Given the description of an element on the screen output the (x, y) to click on. 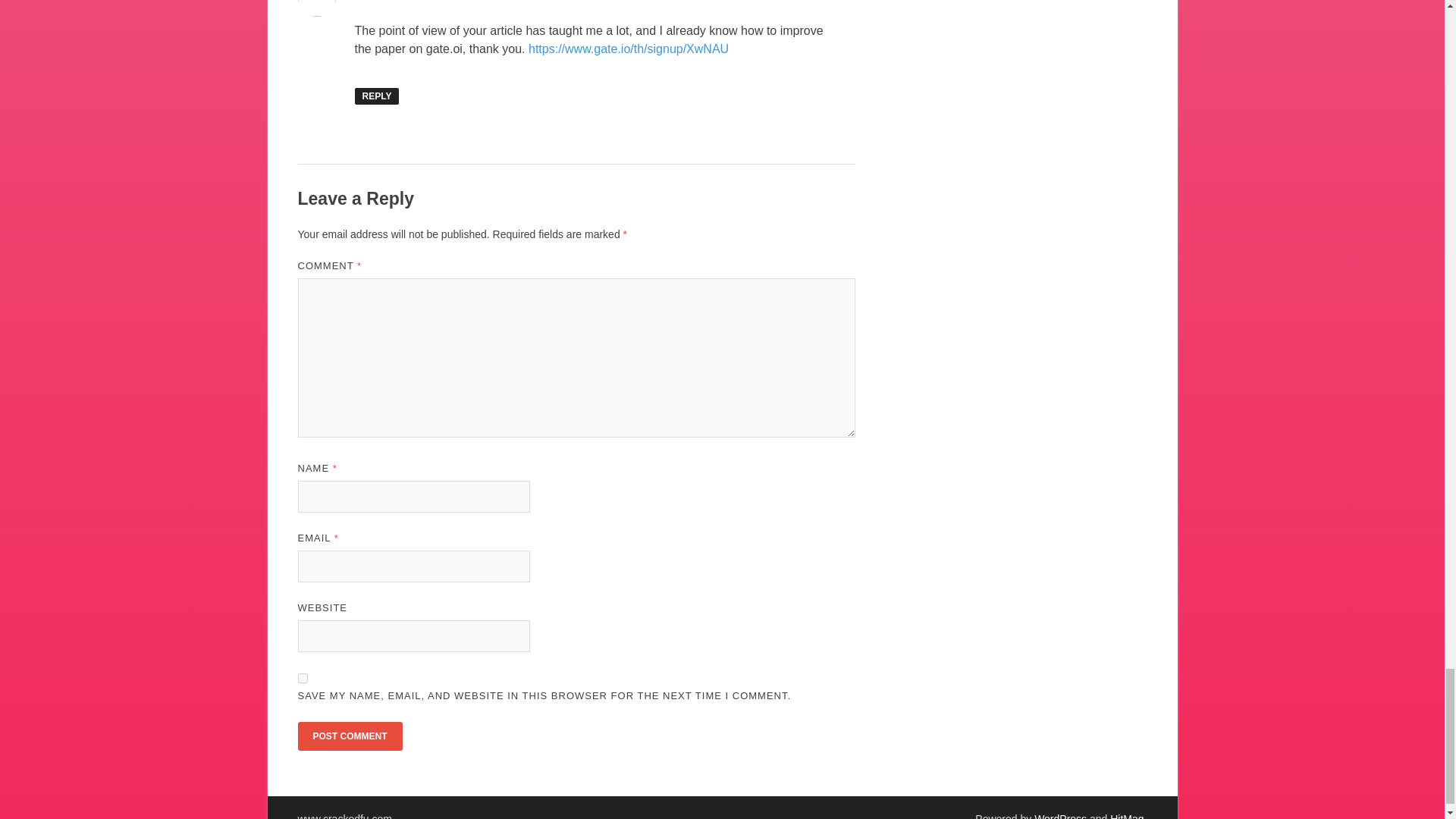
yes (302, 678)
Post Comment (349, 736)
